Given the description of an element on the screen output the (x, y) to click on. 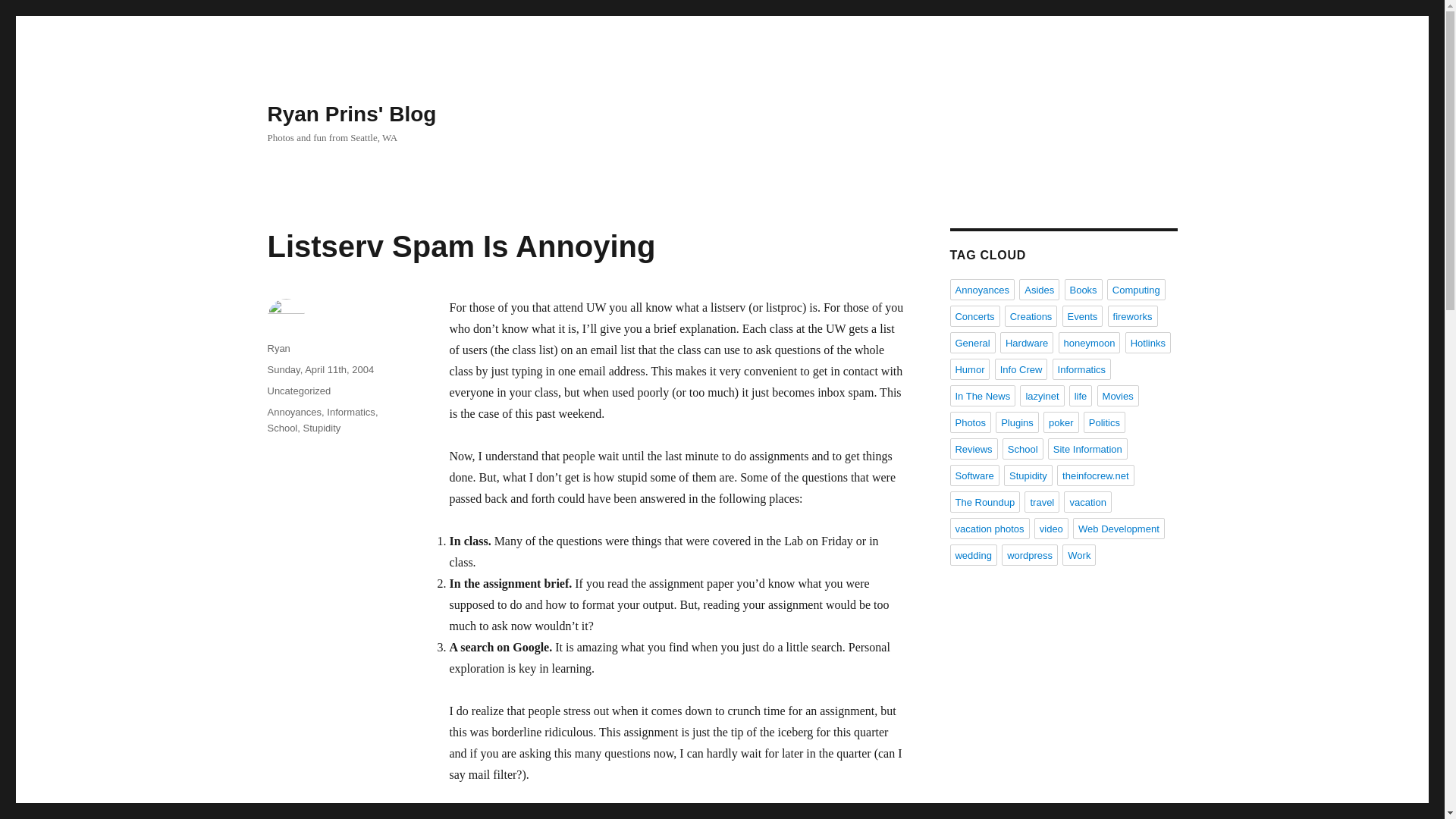
Stupidity (321, 428)
Creations (1031, 315)
life (1080, 395)
Site Information (1087, 448)
Ryan Prins' Blog (350, 114)
Hardware (1026, 342)
theinfocrew.net (1095, 475)
Stupidity (1028, 475)
School (281, 428)
Humor (969, 369)
